Given the description of an element on the screen output the (x, y) to click on. 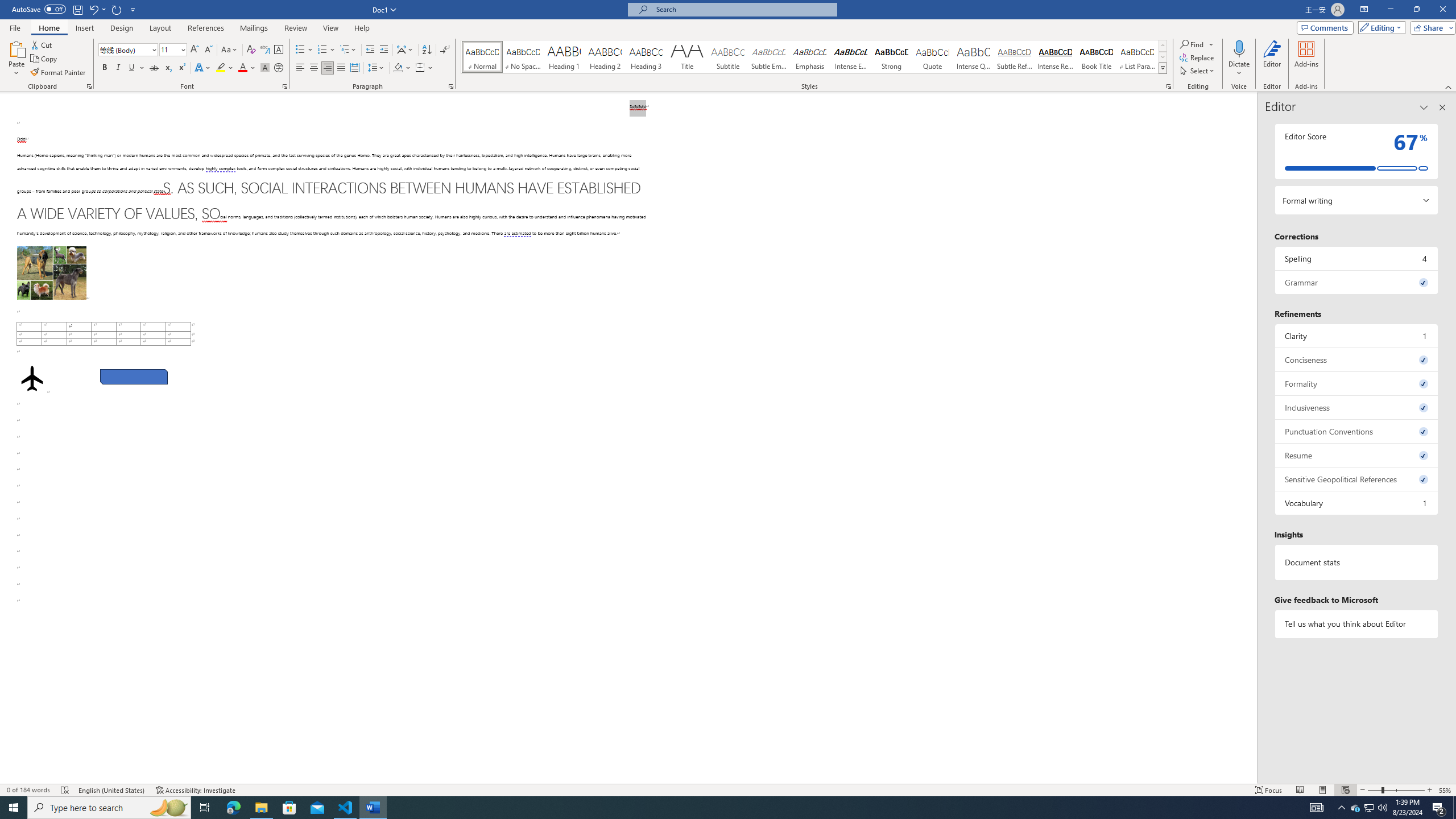
Phonetic Guide... (264, 49)
